Given the description of an element on the screen output the (x, y) to click on. 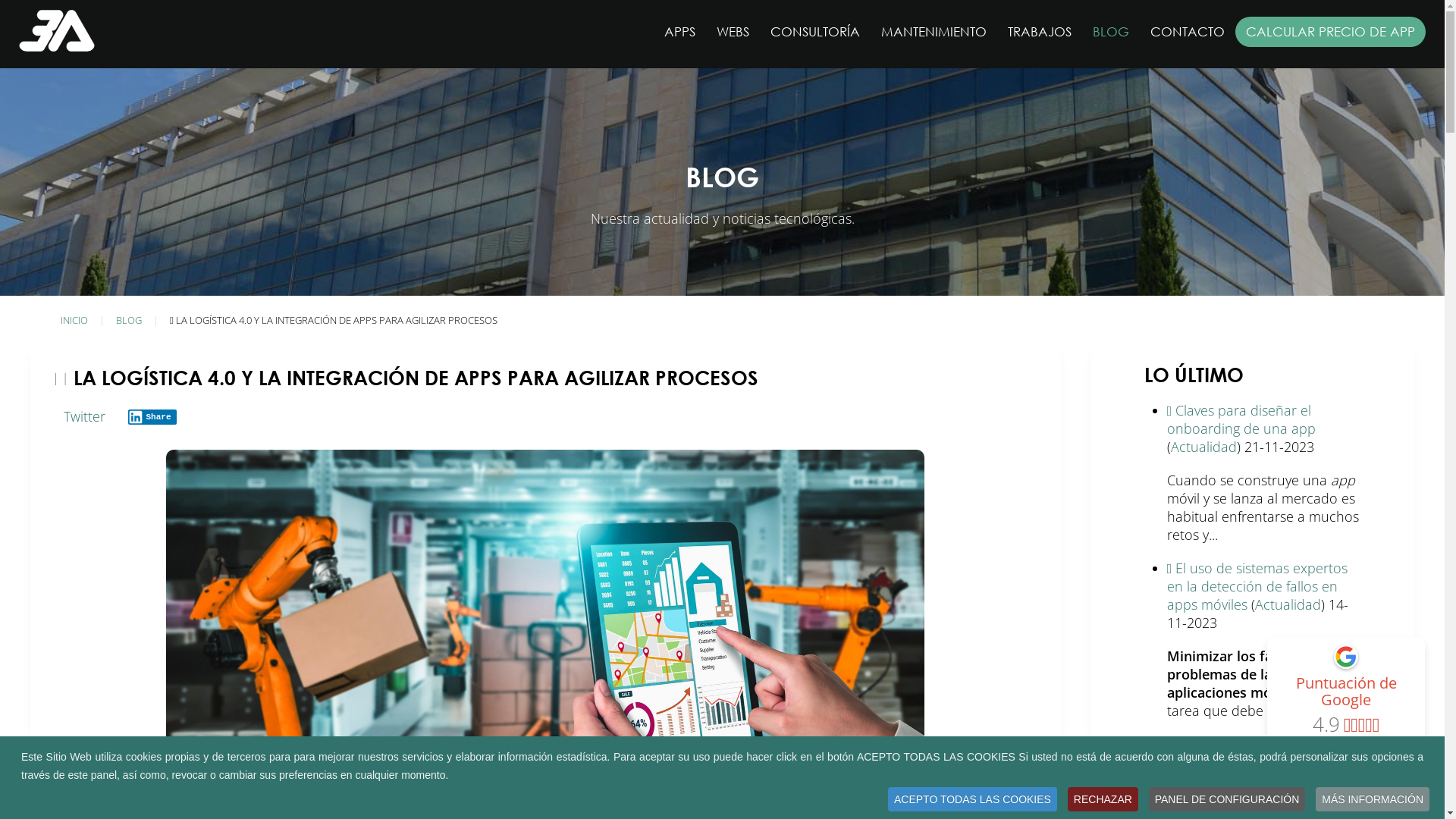
BLOG Element type: text (1110, 31)
1 Element type: text (670, 396)
ACEPTO TODAS LAS COOKIES Element type: text (972, 799)
APPS Element type: text (679, 31)
Actualidad Element type: text (1203, 798)
Actualidad Element type: text (1288, 604)
MANTENIMIENTO Element type: text (933, 31)
INICIO Element type: text (73, 319)
Guardar ajustes Element type: text (916, 602)
Share Element type: text (152, 416)
TRABAJOS Element type: text (1039, 31)
WEBS Element type: text (732, 31)
Twitter Element type: text (84, 416)
 CONTACTA CON NOSOTROS Element type: text (1316, 789)
Permitir todas las cookies Element type: text (538, 602)
CALCULAR PRECIO DE APP Element type: text (1330, 31)
Rechazar todas las cookies Element type: text (727, 602)
Actualidad Element type: text (1203, 446)
CONTACTO Element type: text (1187, 31)
RECHAZAR Element type: text (1102, 799)
BLOG Element type: text (128, 319)
